Given the description of an element on the screen output the (x, y) to click on. 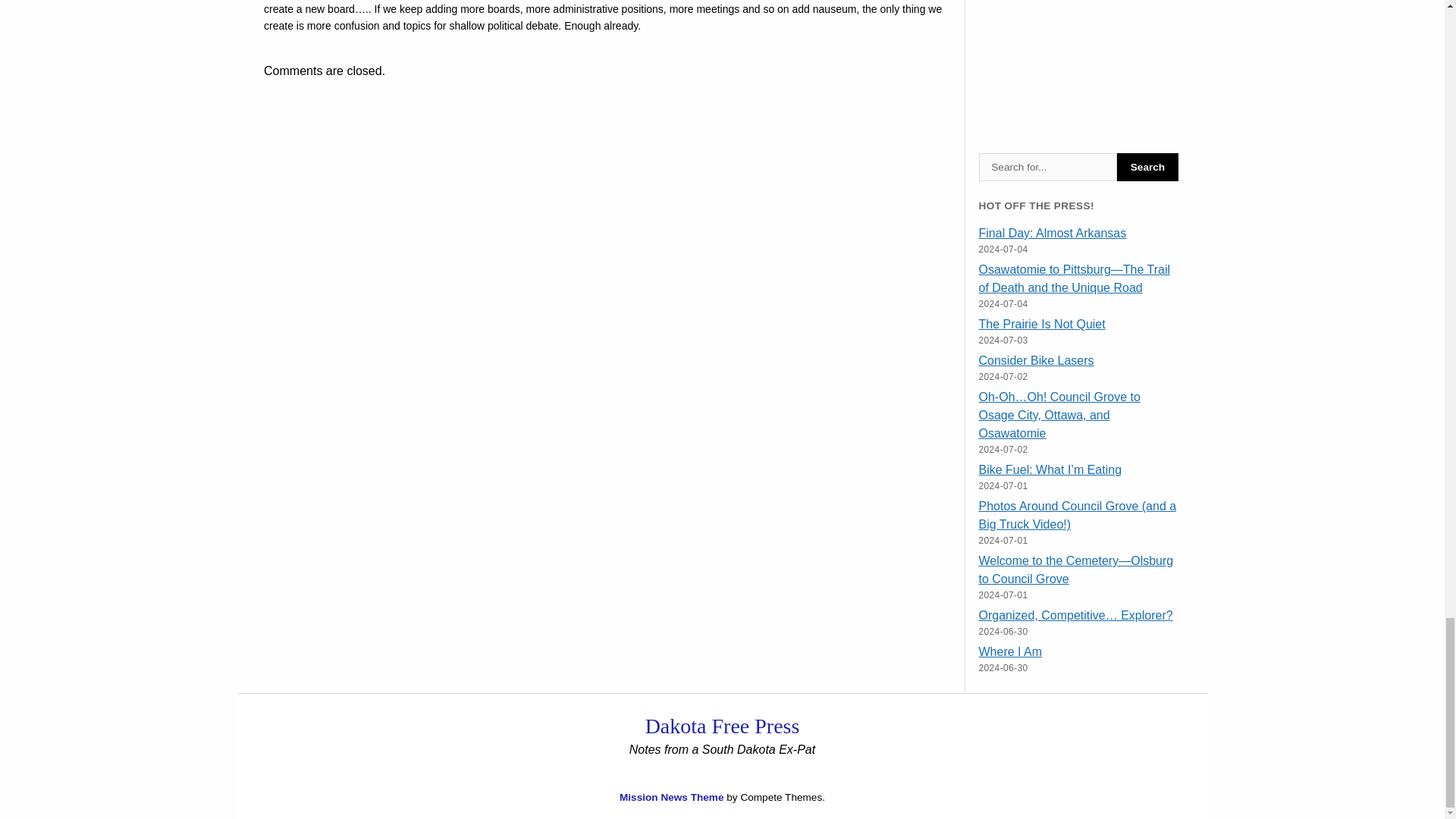
Search (1146, 166)
Search (1146, 166)
